Given the description of an element on the screen output the (x, y) to click on. 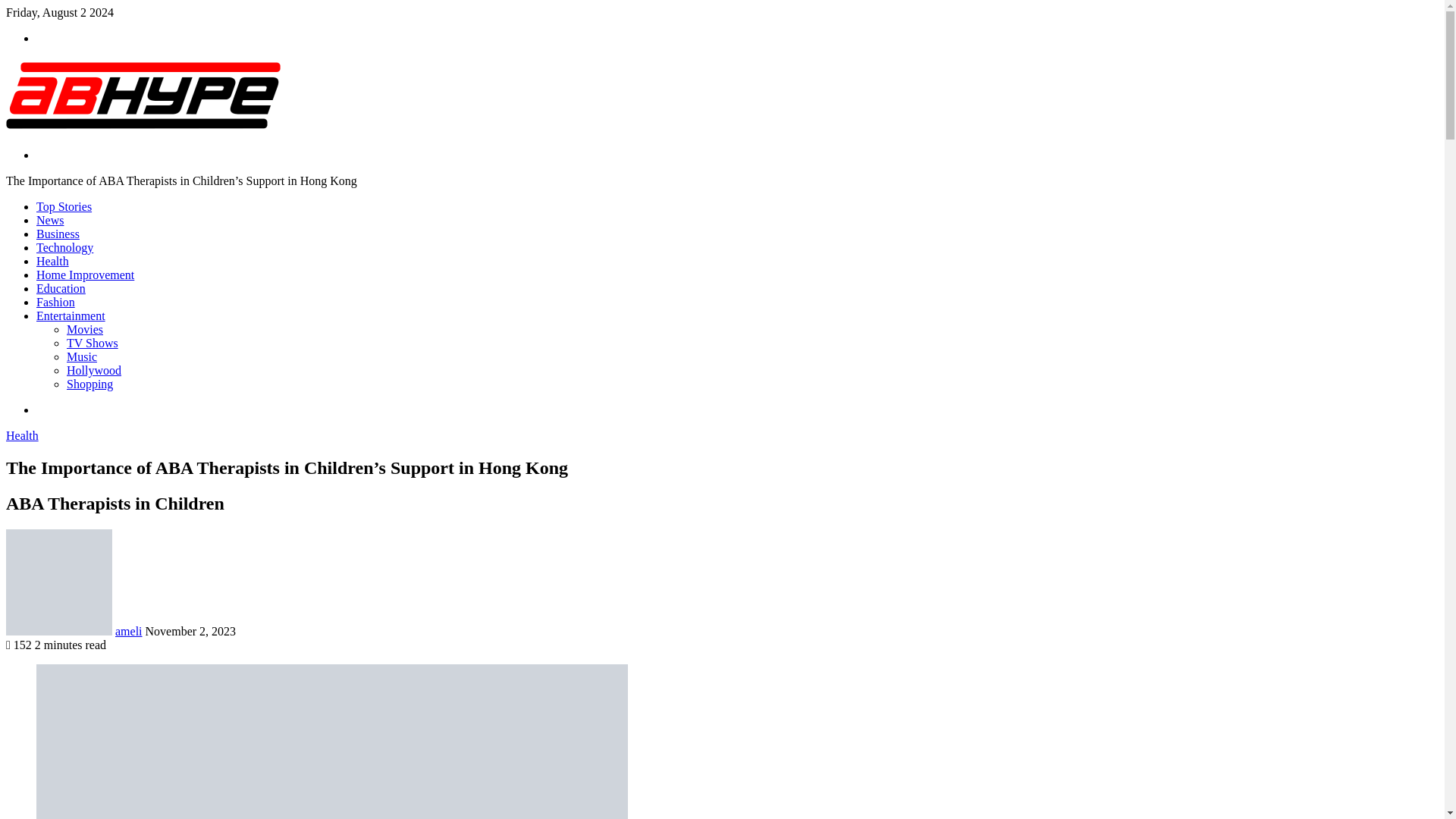
ameli (128, 631)
Shopping (89, 383)
Technology (64, 246)
Education (60, 287)
News (50, 219)
ameli (128, 631)
Home Improvement (84, 274)
Top Stories (63, 205)
TV Shows (91, 342)
Health (22, 435)
